Given the description of an element on the screen output the (x, y) to click on. 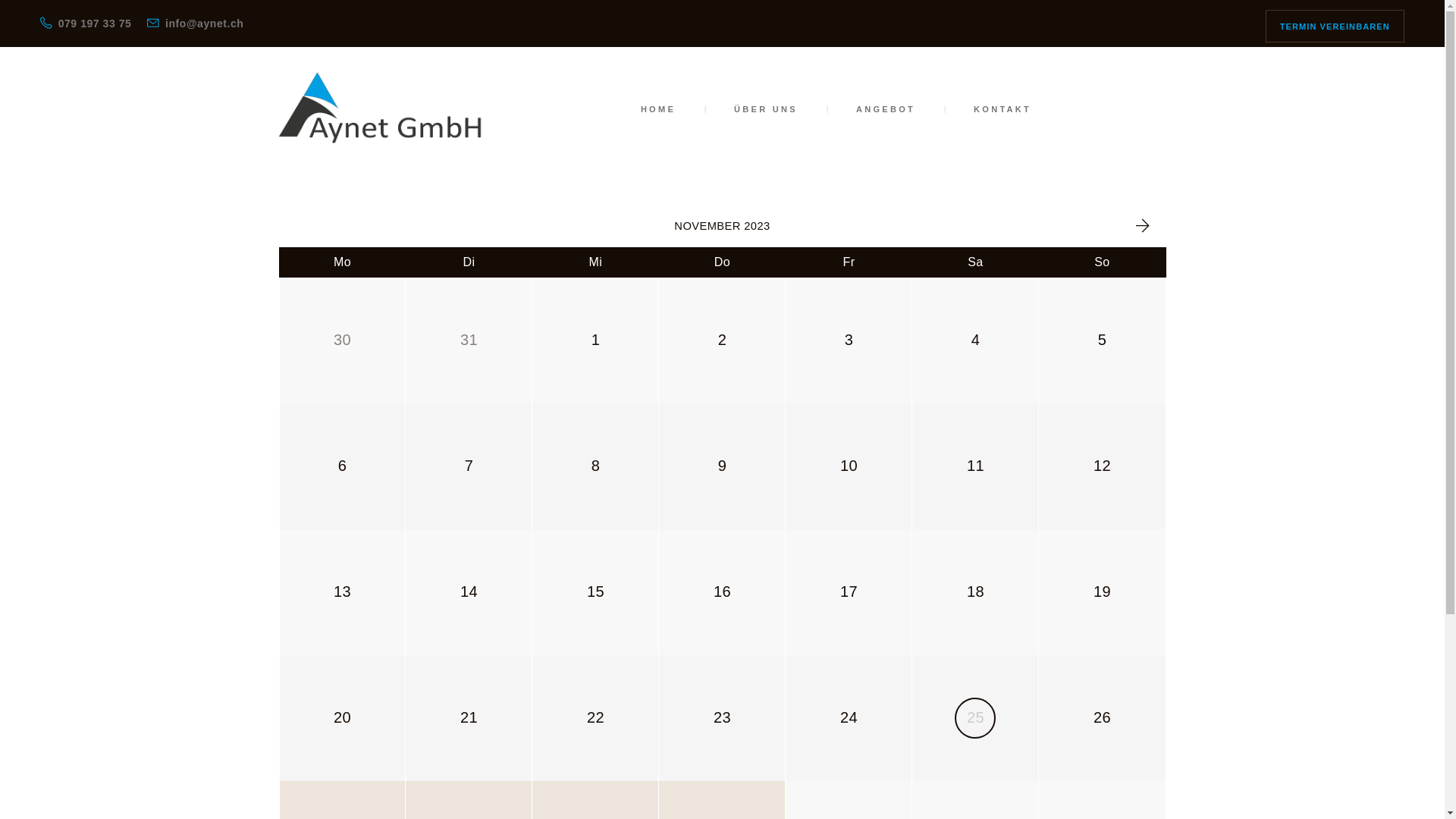
ANGEBOT Element type: text (885, 109)
info@aynet.ch Element type: text (195, 23)
TERMIN VEREINBAREN Element type: text (1333, 25)
KONTAKT Element type: text (1002, 109)
079 197 33 75 Element type: text (85, 23)
HOME Element type: text (657, 109)
